Given the description of an element on the screen output the (x, y) to click on. 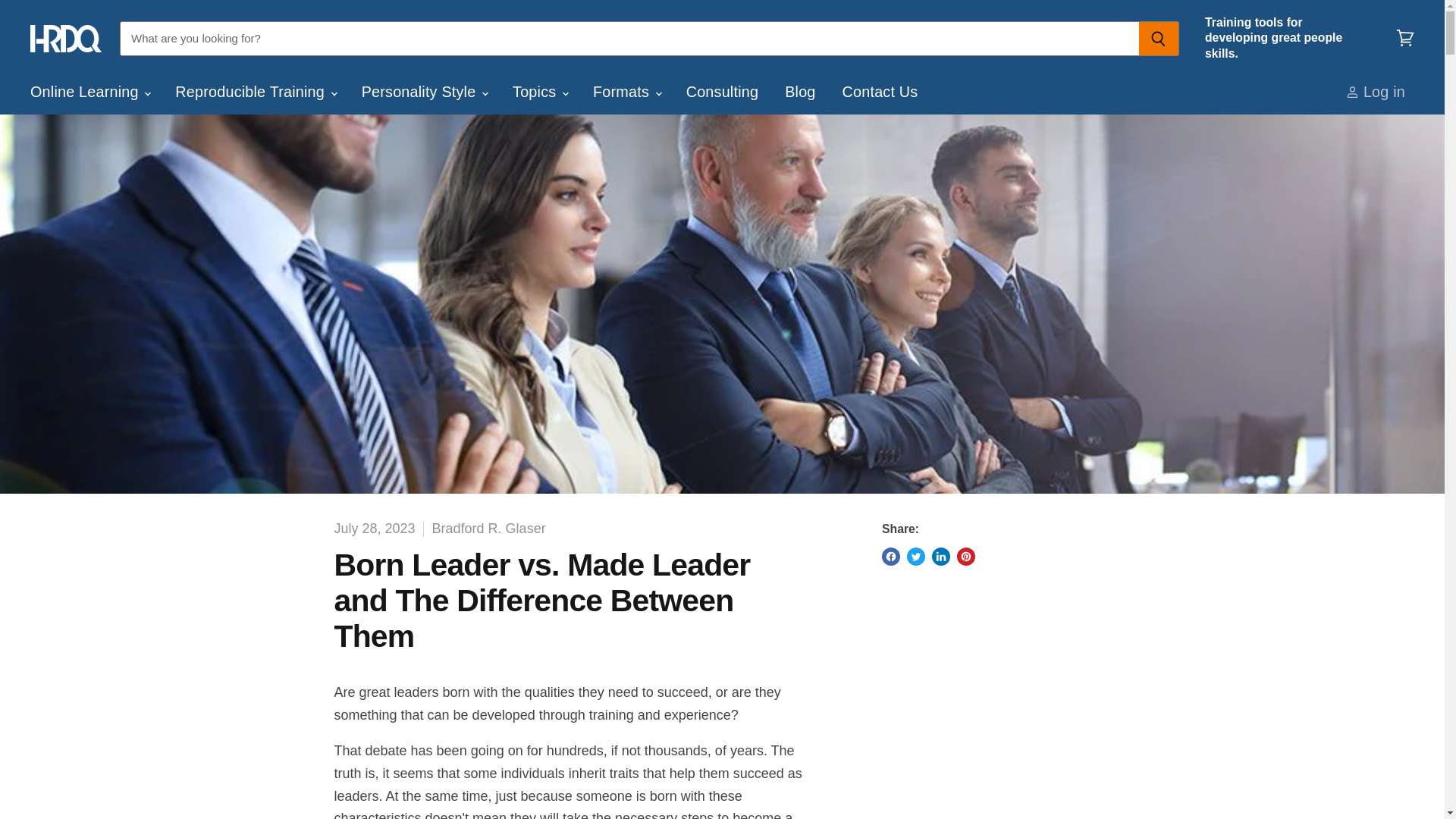
Online Learning (89, 91)
View cart (1405, 38)
Reproducible Training (254, 91)
Personality Style (423, 91)
